Given the description of an element on the screen output the (x, y) to click on. 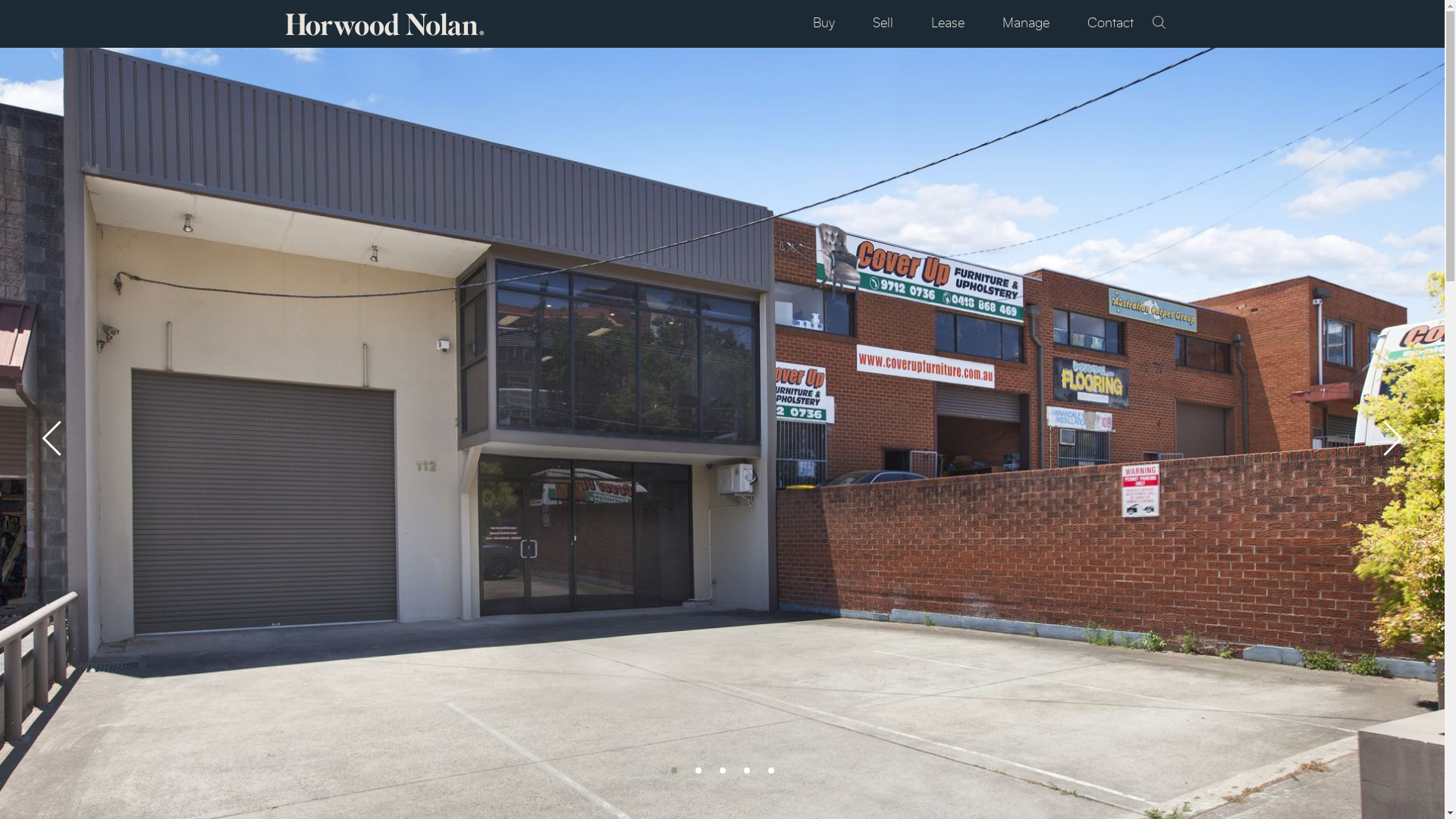
Horwood Nolan -  Element type: hover (383, 23)
Sell Element type: text (882, 23)
Search Element type: hover (1158, 23)
Buy Element type: text (823, 23)
Lease Element type: text (947, 23)
Manage Element type: text (1025, 23)
Contact Element type: text (1110, 23)
